Given the description of an element on the screen output the (x, y) to click on. 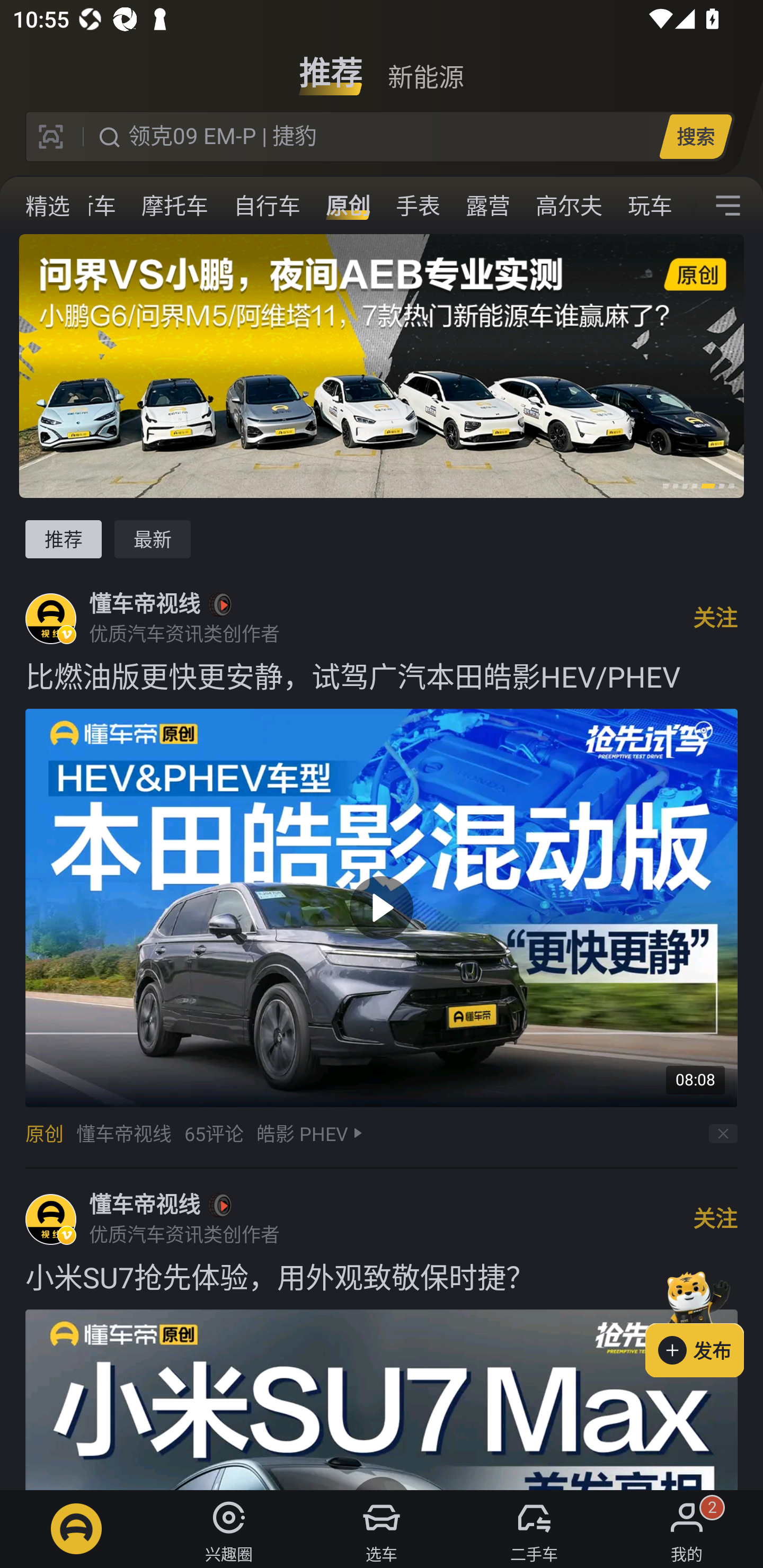
推荐 (330, 65)
新能源 (425, 65)
搜索 (695, 136)
直播 (29, 205)
新车 (93, 205)
摩托车 (174, 205)
自行车 (266, 205)
原创 (347, 205)
手表 (418, 205)
露营 (487, 205)
高尔夫 (568, 205)
玩车 (649, 205)
 (727, 205)
推荐 (63, 539)
最新 (152, 539)
懂车帝视线 (144, 604)
关注 (714, 618)
原创 (44, 1133)
皓影 PHEV (301, 1133)
懂车帝视线 优质汽车资讯类创作者 关注 小米SU7抢先体验，用外观致敬保时捷？  (381, 1328)
懂车帝视线 (144, 1204)
关注 (714, 1219)
发布 (704, 1320)
 兴趣圈 (228, 1528)
 选车 (381, 1528)
 二手车 (533, 1528)
 我的 (686, 1528)
